Given the description of an element on the screen output the (x, y) to click on. 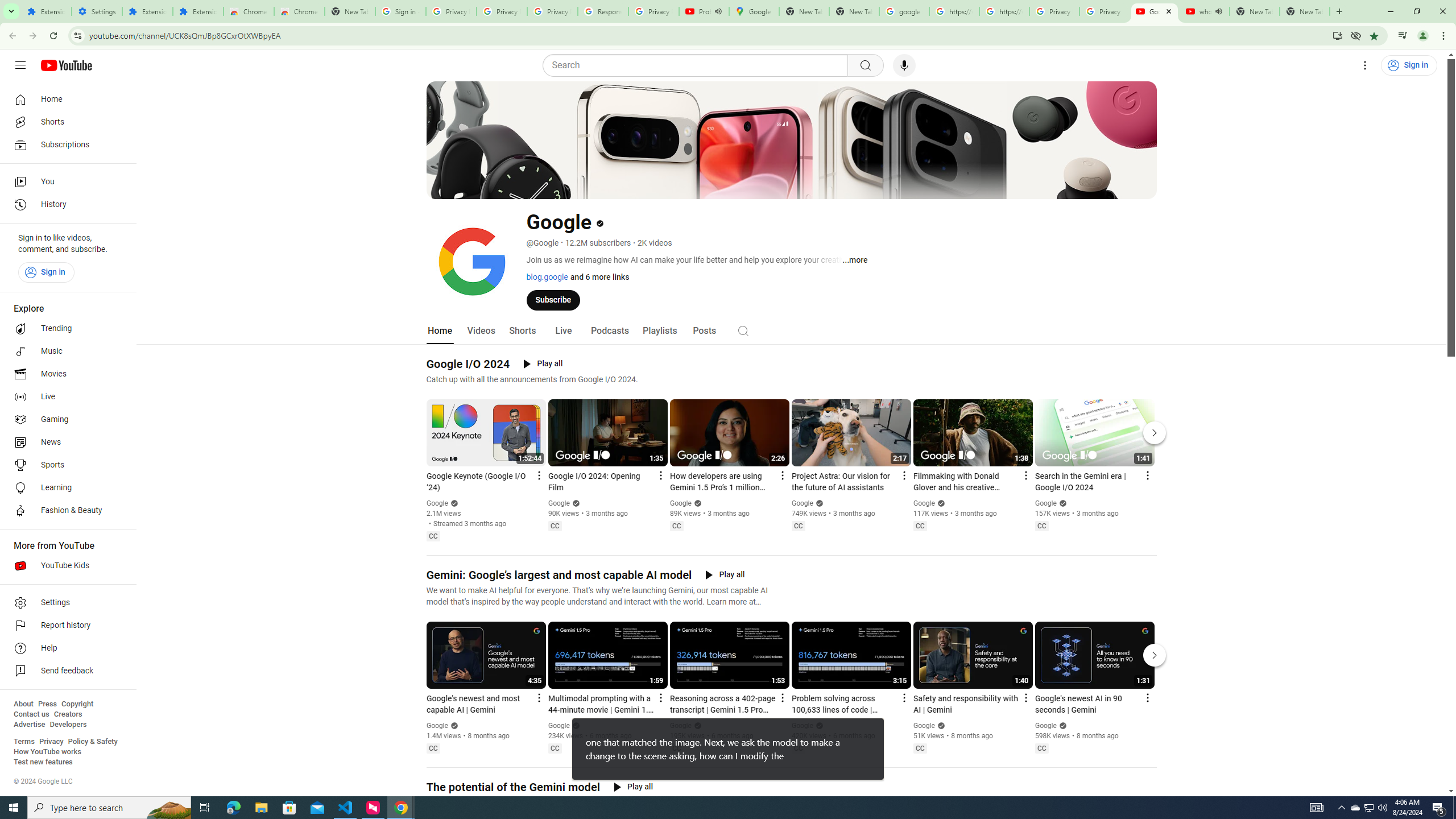
Live (562, 330)
Chrome (1445, 35)
Guide (20, 65)
Settings (1365, 65)
New Tab (350, 11)
Install YouTube (1336, 35)
Home (64, 99)
Live (64, 396)
Chrome Web Store (248, 11)
Reload (52, 35)
Google Maps (753, 11)
Search (697, 65)
Test new features (42, 761)
